Given the description of an element on the screen output the (x, y) to click on. 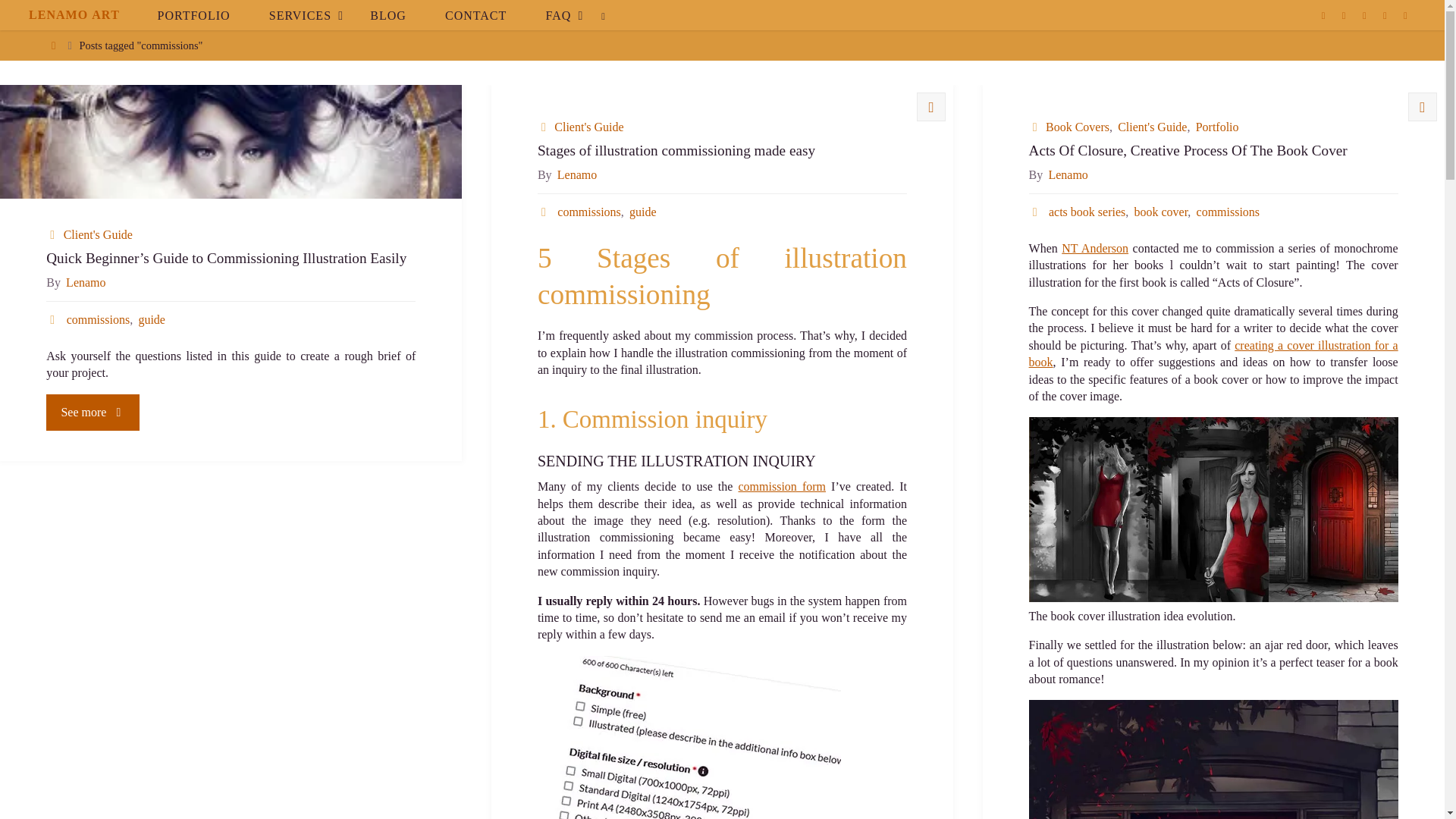
LENAMO ART (74, 14)
Portraits and illustrations by a professional digital artist (74, 14)
PORTFOLIO (193, 15)
SERVICES (299, 15)
